Given the description of an element on the screen output the (x, y) to click on. 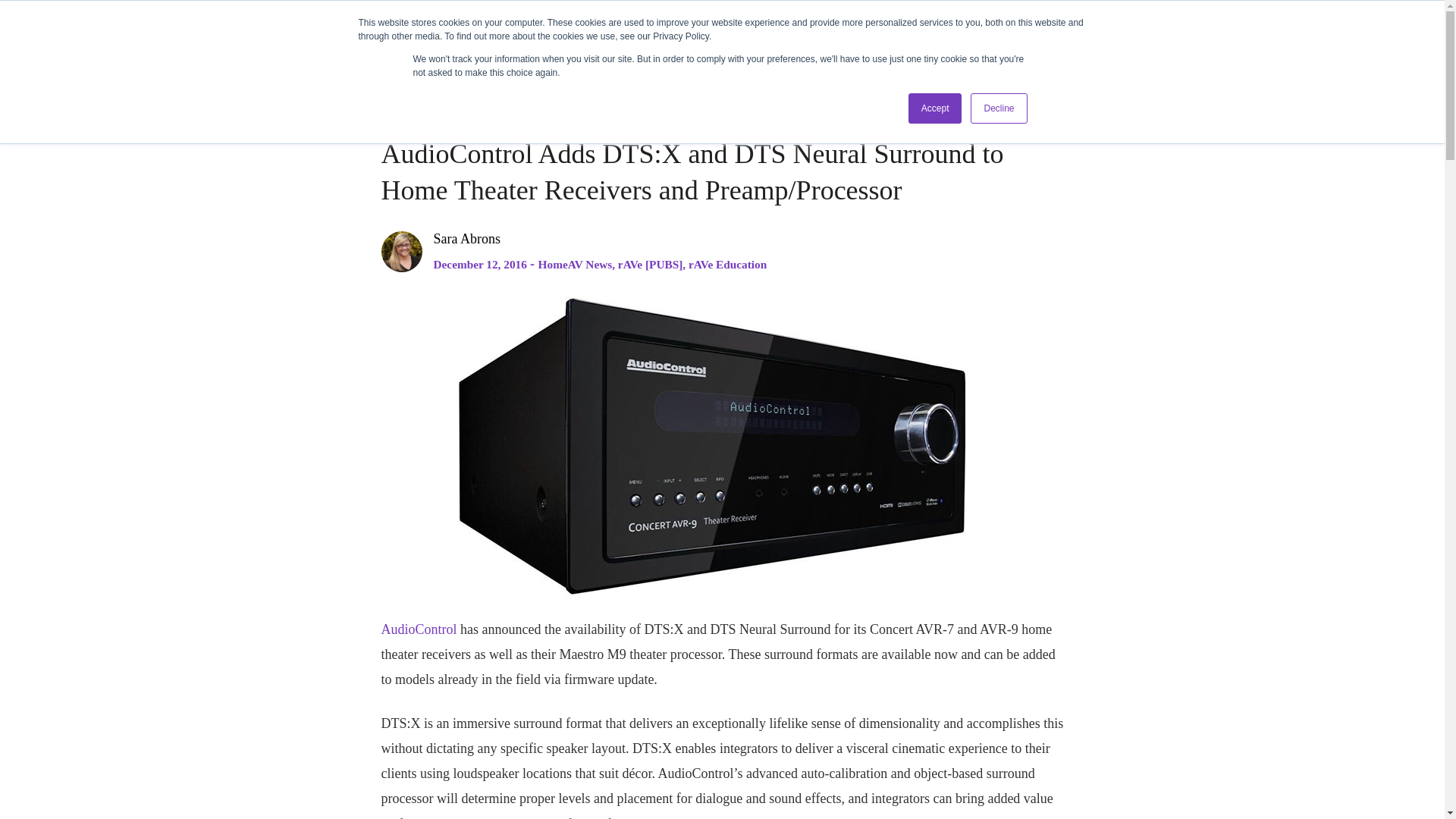
Decline (998, 108)
Accept (935, 108)
SUBSCRIBE (1207, 36)
